Given the description of an element on the screen output the (x, y) to click on. 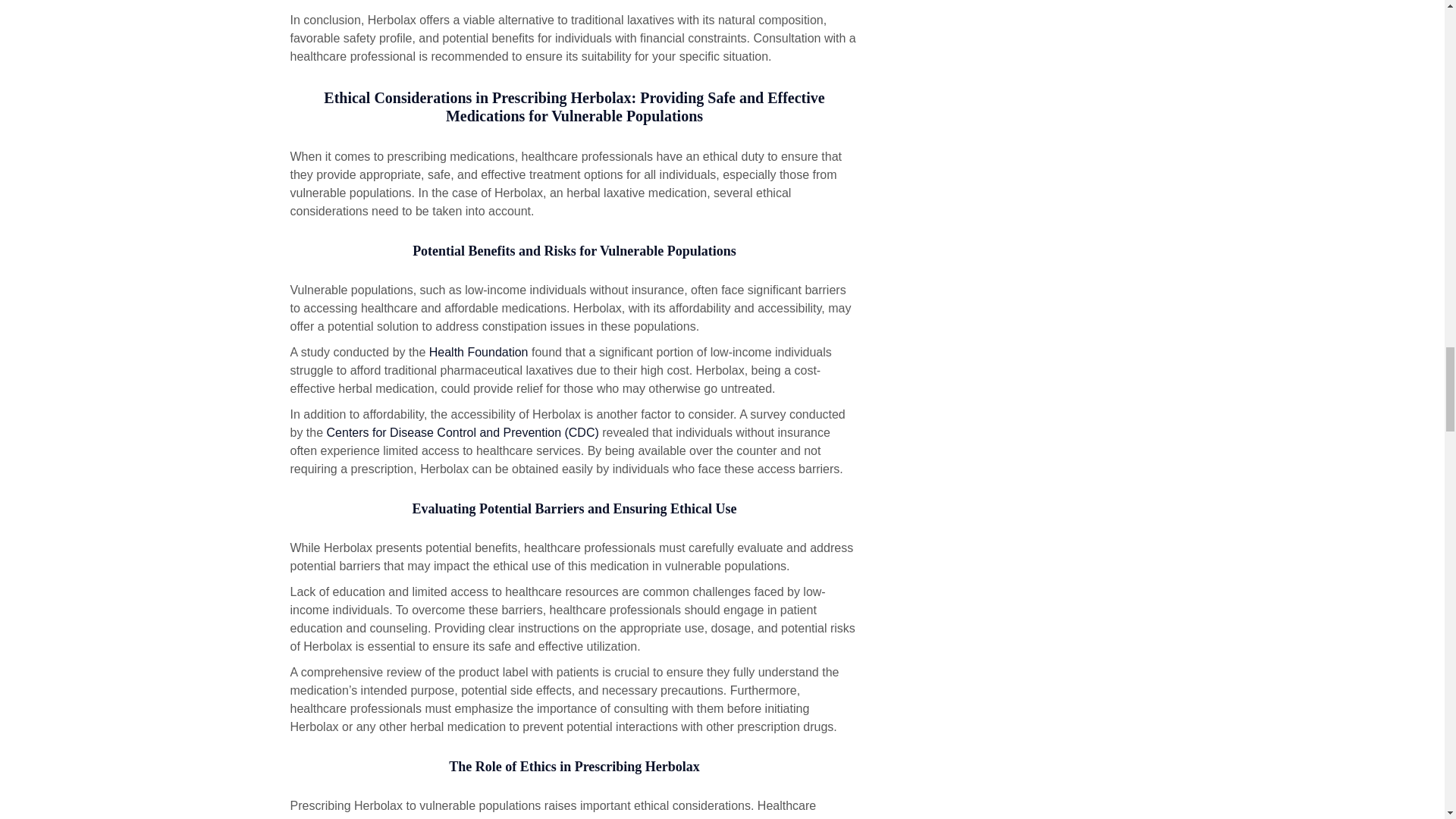
Health Foundation (478, 351)
